Given the description of an element on the screen output the (x, y) to click on. 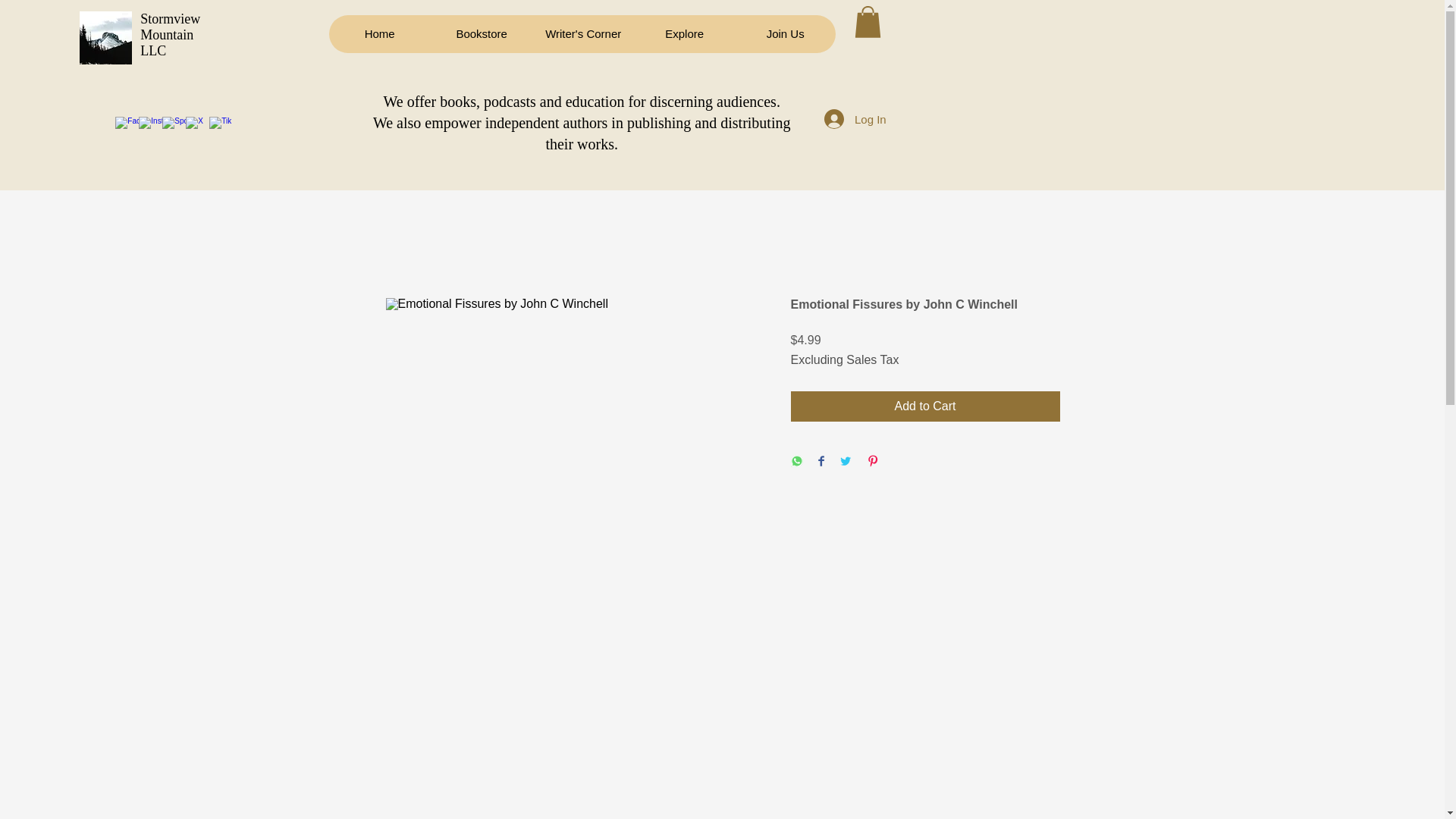
Bookstore (481, 34)
Writer's Corner (582, 34)
Add to Cart (924, 406)
Home (379, 34)
Stormview Mountain (169, 26)
Log In (854, 118)
Explore (684, 34)
Join Us (785, 34)
